Given the description of an element on the screen output the (x, y) to click on. 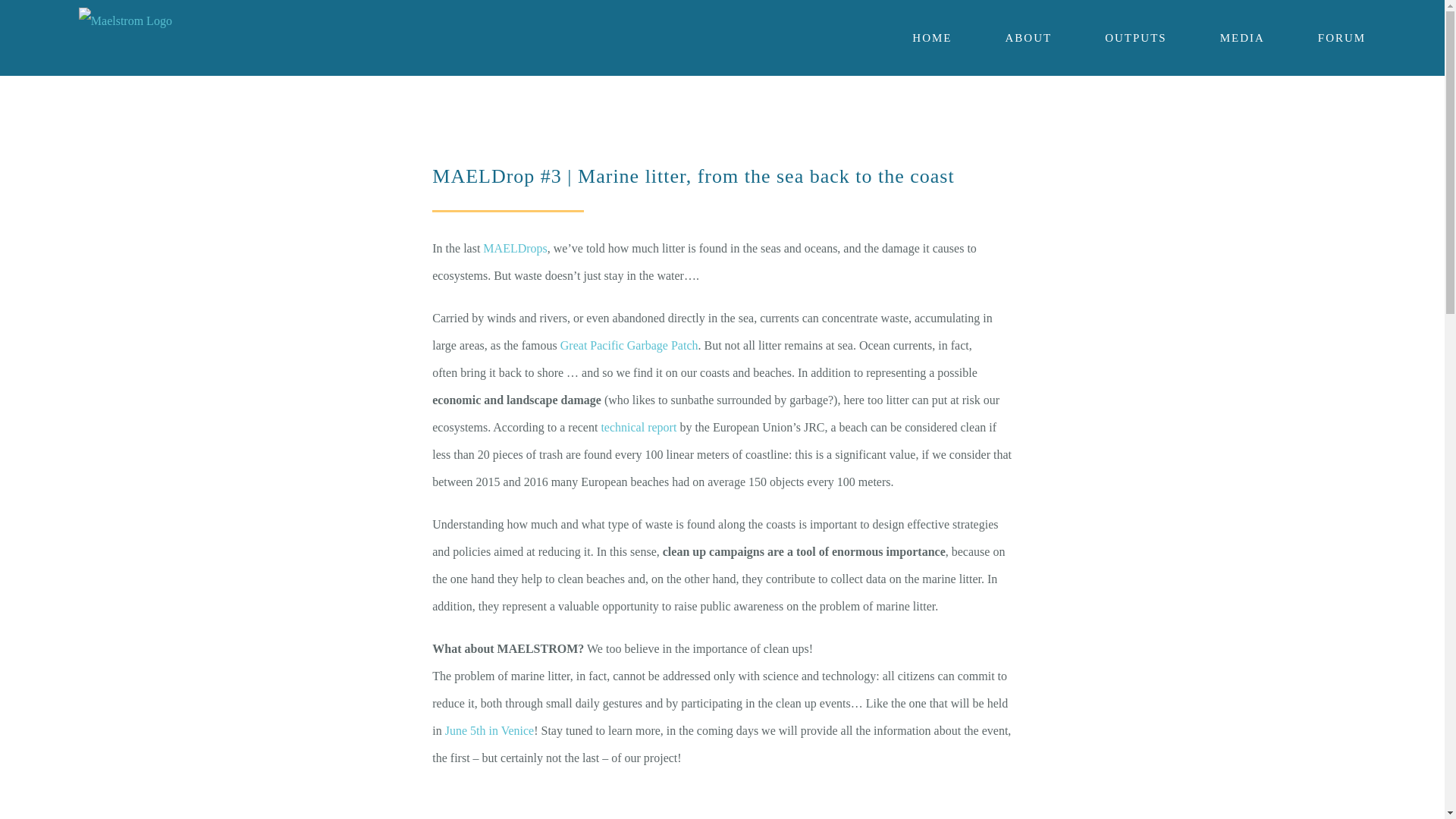
Great Pacific Garbage Patch (629, 345)
MAELDrops (515, 247)
June 5th in Venice (489, 730)
technical report (639, 427)
